Given the description of an element on the screen output the (x, y) to click on. 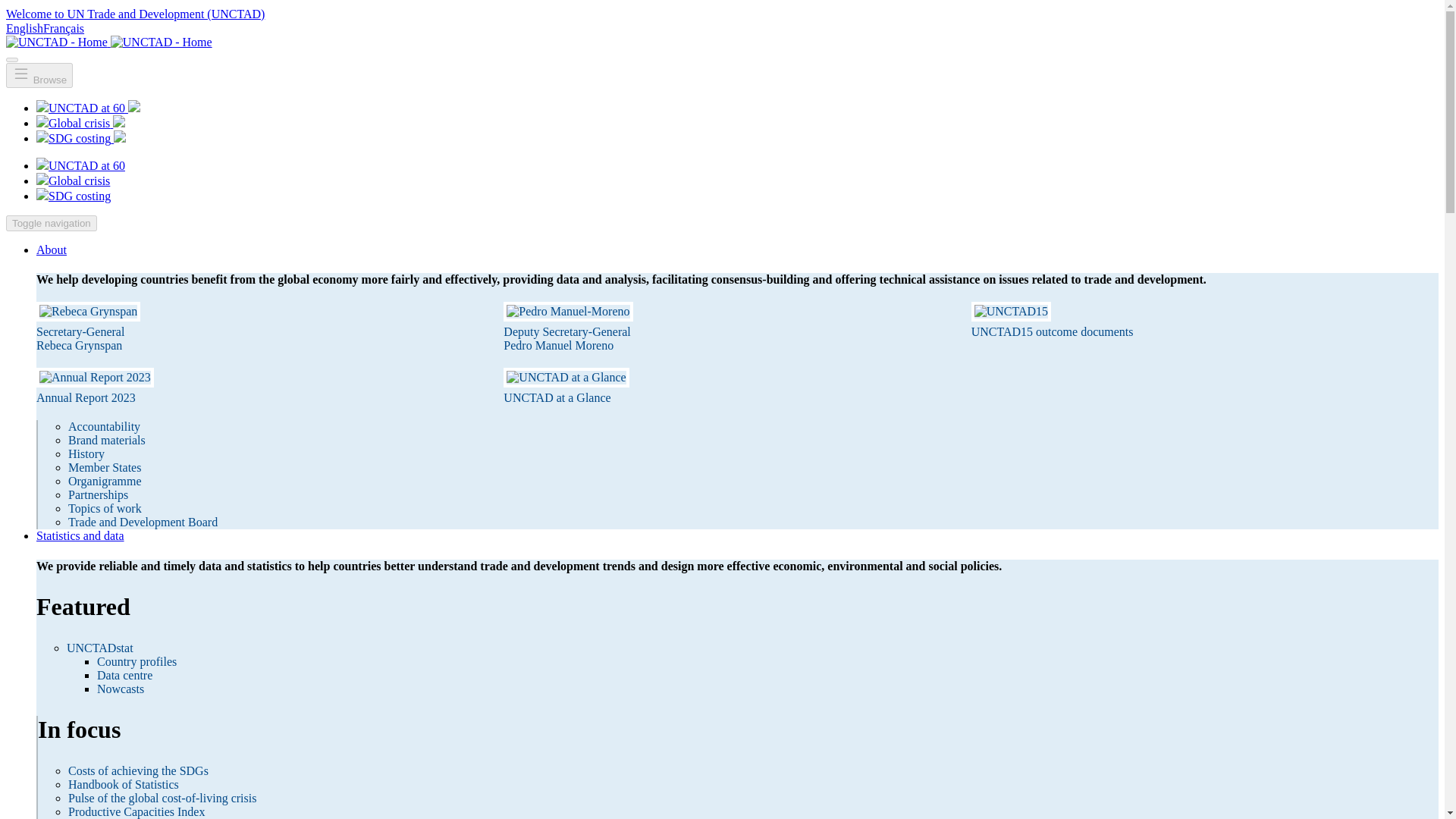
Organigramme (104, 481)
Country profiles (136, 661)
UNCTAD at 60 (80, 164)
Global crisis (80, 123)
Brand materials (106, 440)
Deputy Secretary-General (566, 331)
English (24, 28)
Annual Report 2023 (85, 397)
UNCTAD at 60 (87, 107)
Accountability (103, 426)
